Given the description of an element on the screen output the (x, y) to click on. 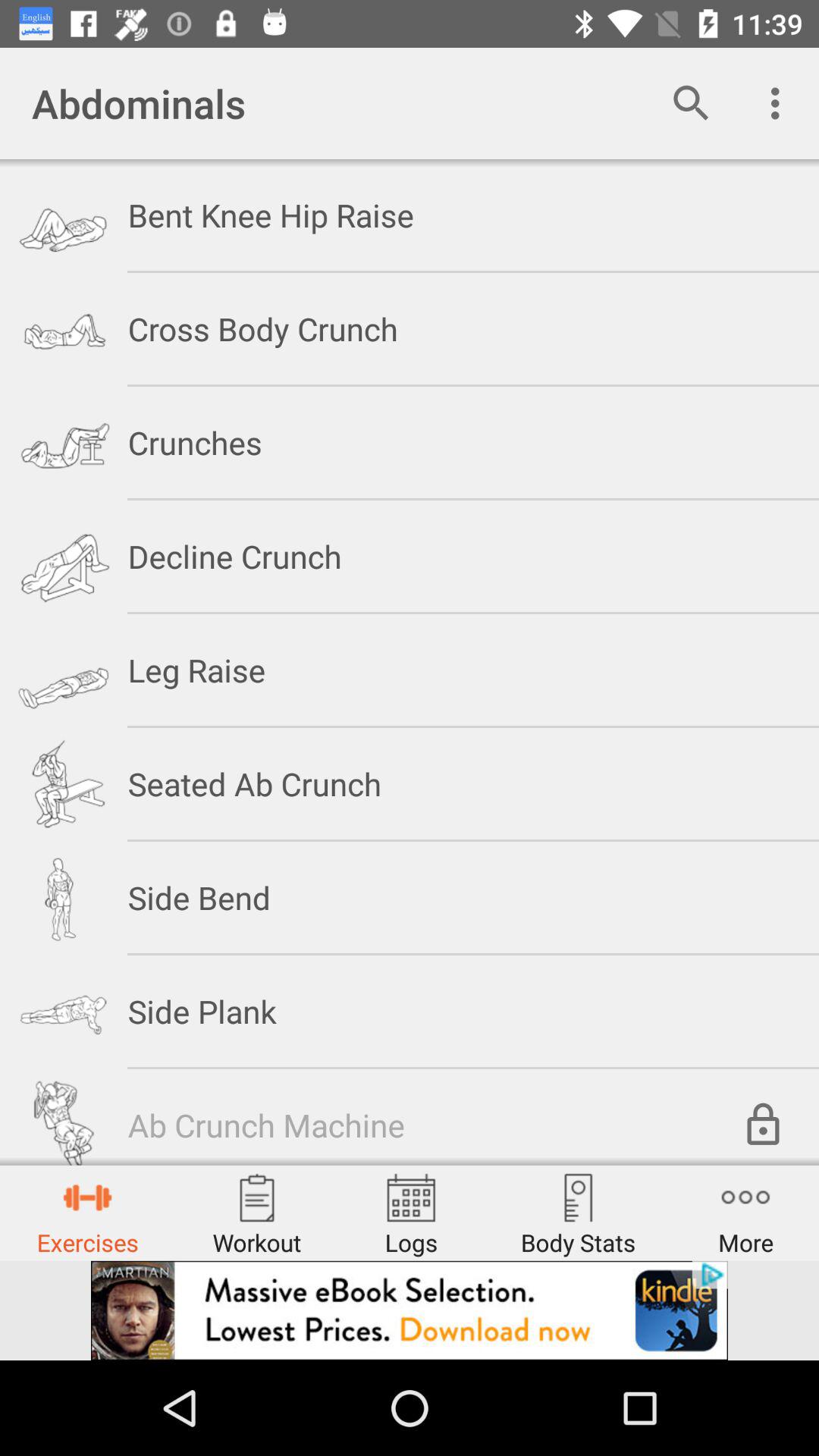
toggle advertisement option (409, 1310)
